Given the description of an element on the screen output the (x, y) to click on. 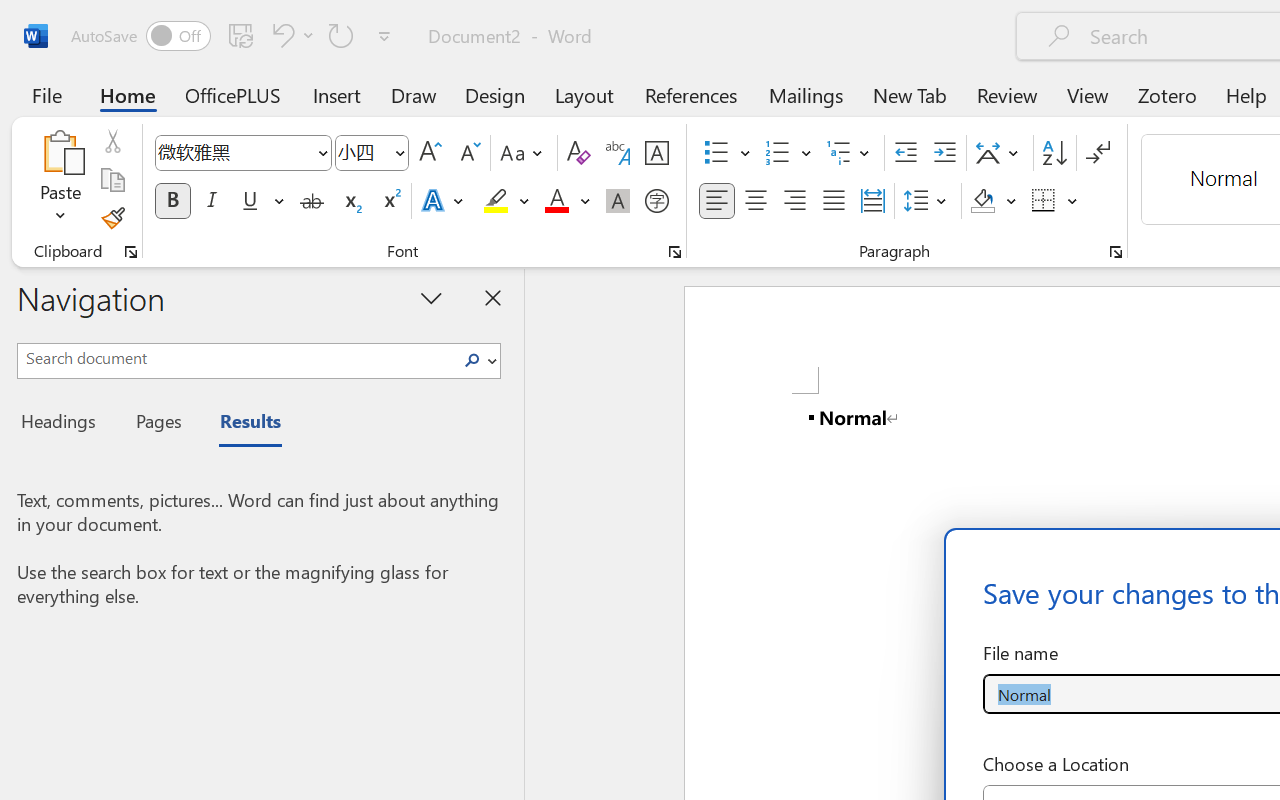
Search (471, 360)
Font (242, 153)
Character Shading (618, 201)
Paste (60, 151)
OfficePLUS (233, 94)
Sort... (1054, 153)
Class: NetUIImage (471, 360)
Shading (993, 201)
Text Effects and Typography (444, 201)
Paste (60, 179)
Center (756, 201)
Pages (156, 424)
Increase Indent (944, 153)
Font Color Red (556, 201)
More Options (1073, 201)
